Given the description of an element on the screen output the (x, y) to click on. 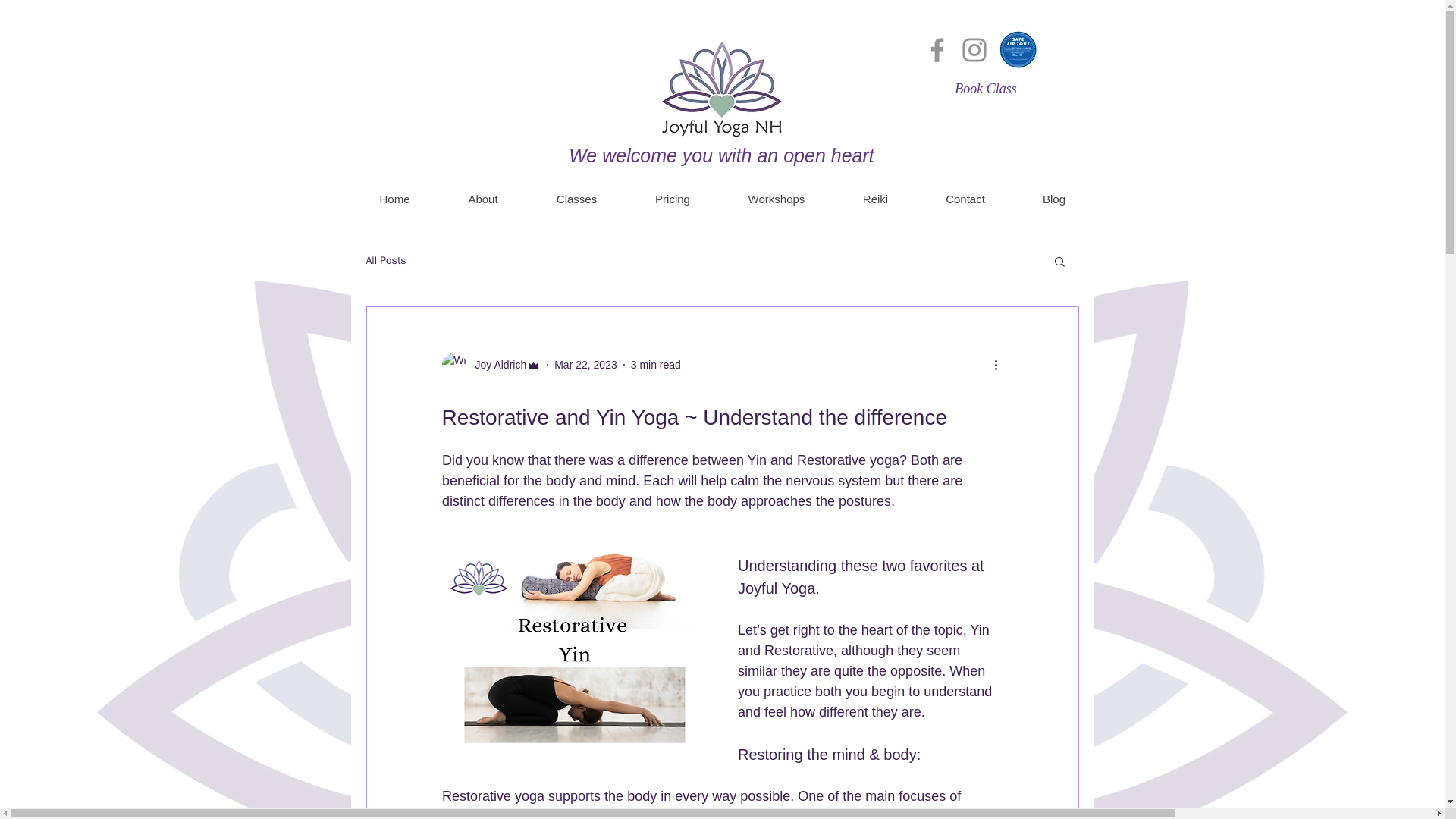
Contact (964, 198)
Book Class (986, 88)
Home (394, 198)
About (481, 198)
Workshops (776, 198)
Joy Aldrich (490, 364)
Joy Aldrich (495, 364)
Pricing (672, 198)
Reiki (875, 198)
Blog (1053, 198)
All Posts (385, 260)
Classes (575, 198)
3 min read (655, 363)
Mar 22, 2023 (585, 363)
